Given the description of an element on the screen output the (x, y) to click on. 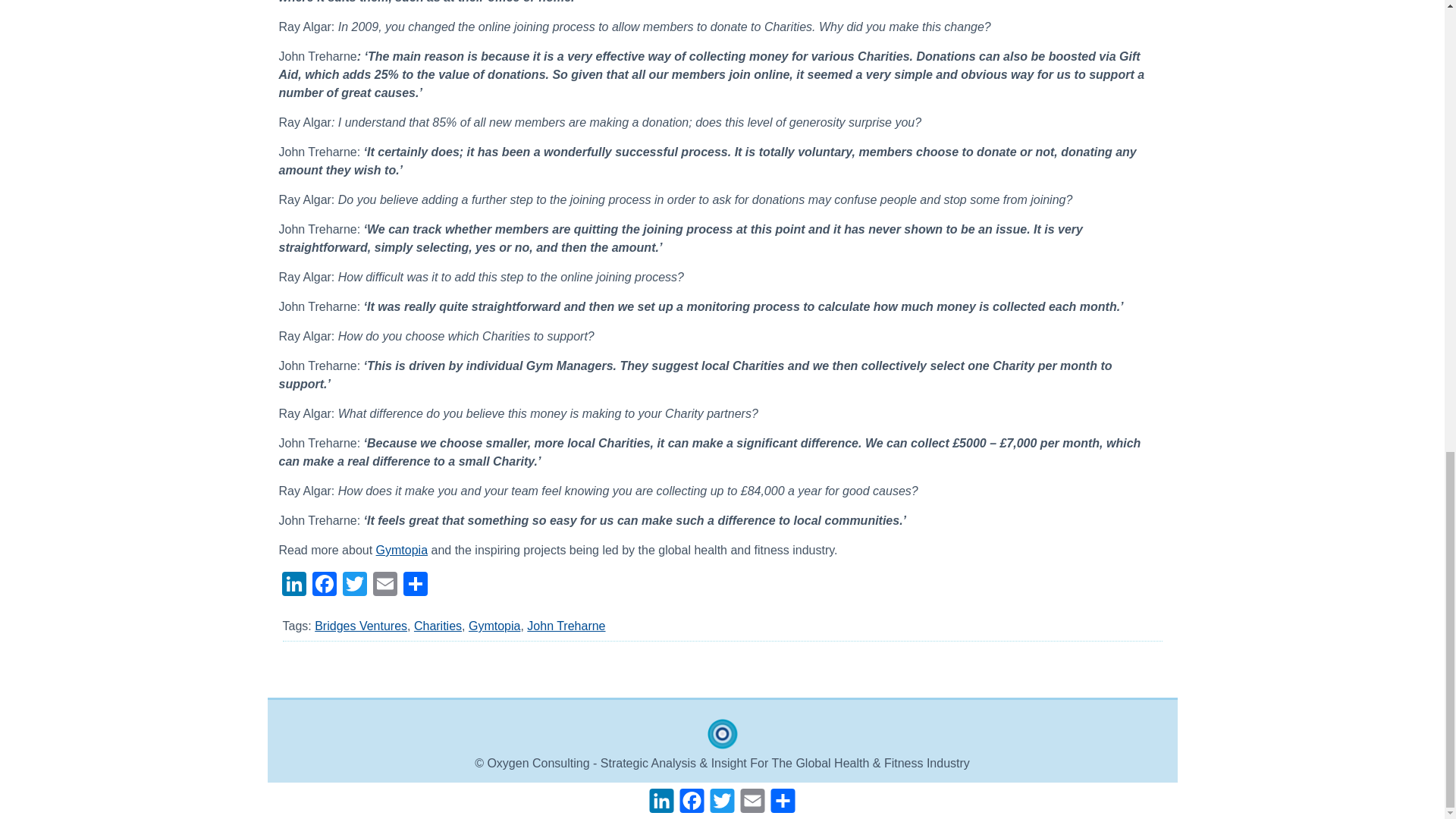
Email (384, 585)
Privacy Policy (736, 789)
Bridges Ventures (360, 625)
LinkedIn (293, 585)
Twitter (354, 585)
Gymtopia (401, 549)
Contact (805, 789)
Gymtopia (493, 625)
Facebook (323, 585)
Twitter (354, 585)
